Given the description of an element on the screen output the (x, y) to click on. 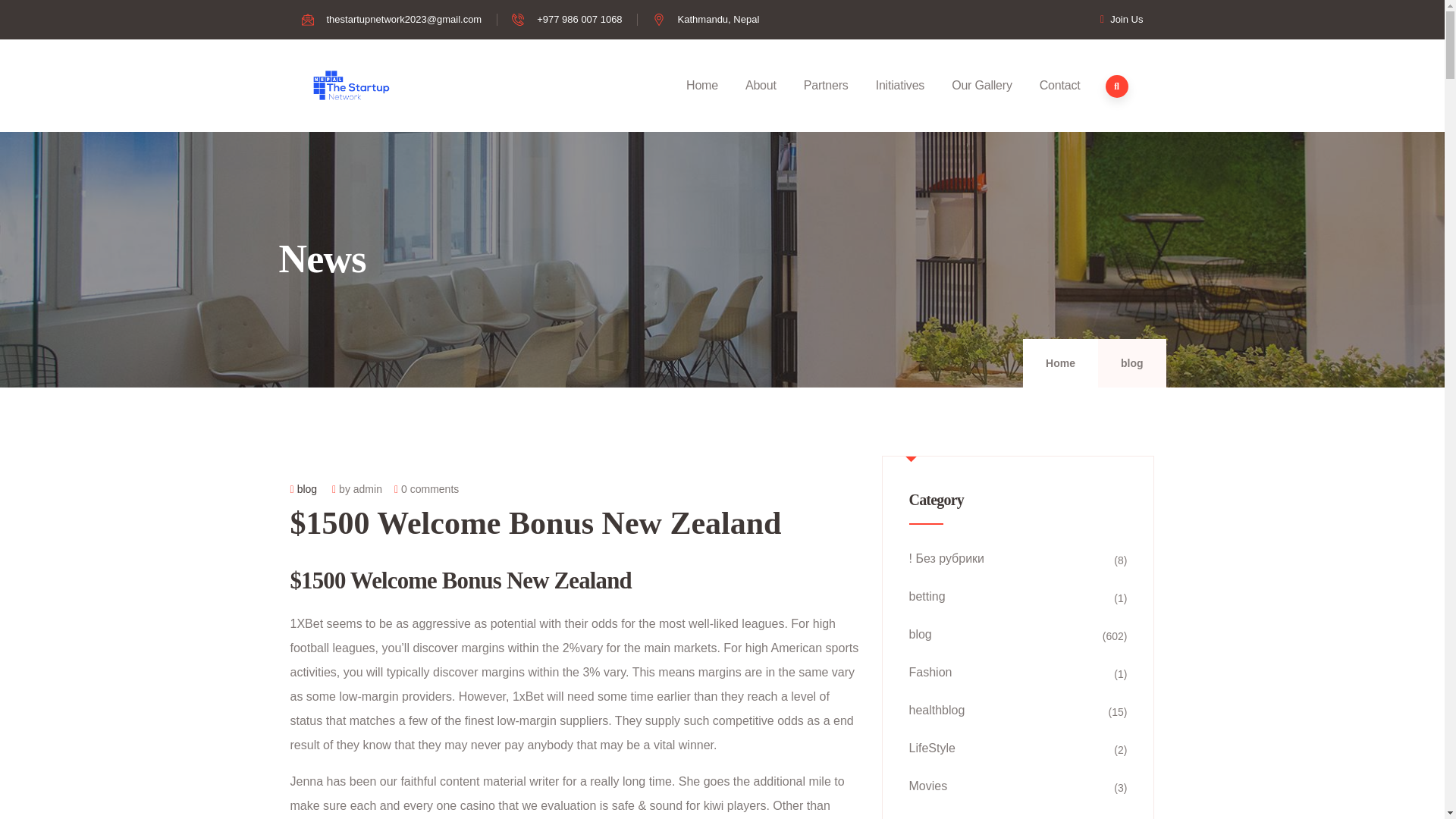
Fashion (1017, 672)
blog (307, 489)
blog (1017, 634)
blog (1131, 363)
Initiatives (900, 85)
Home (352, 85)
Home (1060, 363)
Our Gallery (981, 85)
Join Us (1116, 19)
betting (1017, 596)
